Given the description of an element on the screen output the (x, y) to click on. 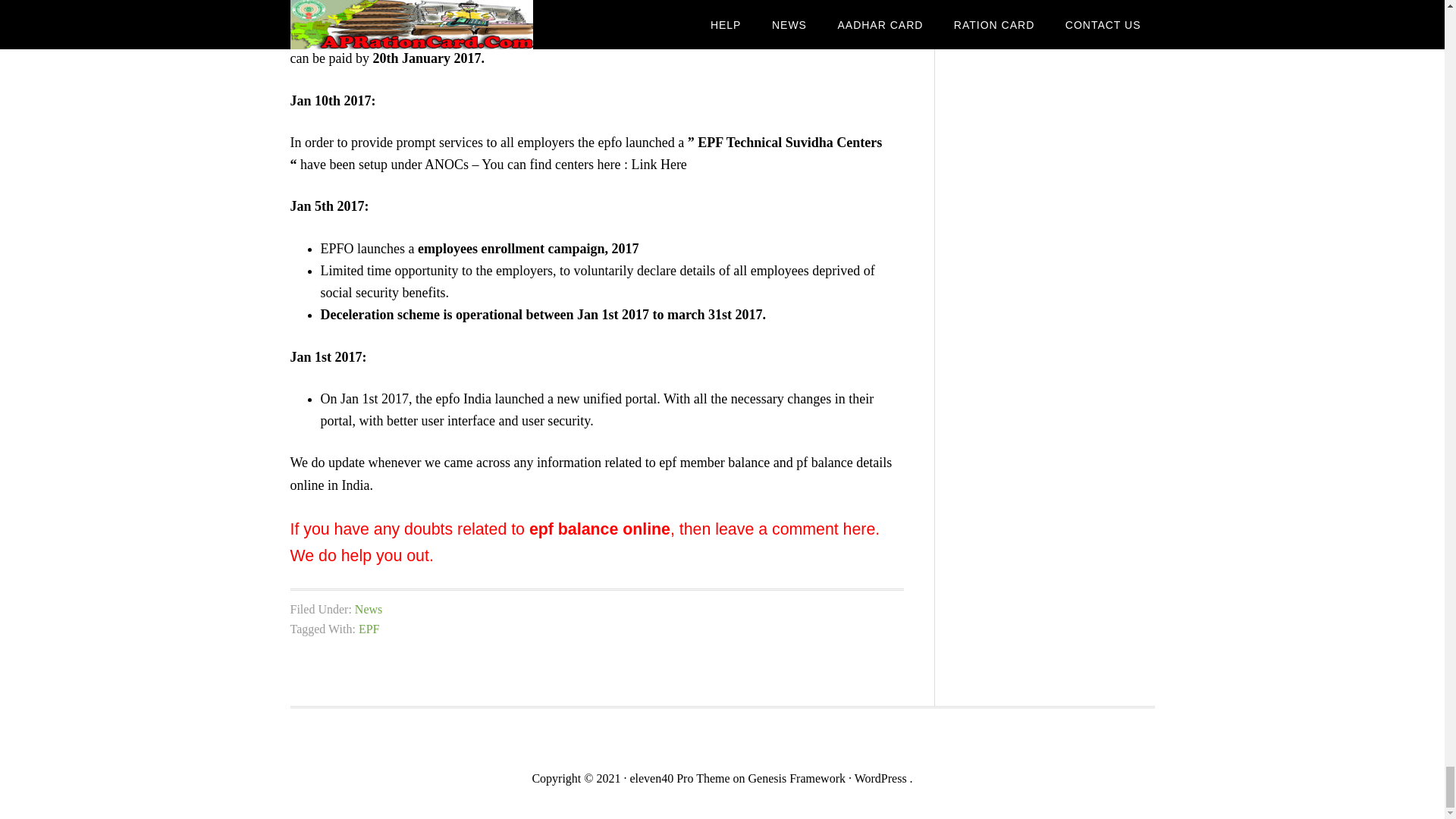
News (368, 608)
